Given the description of an element on the screen output the (x, y) to click on. 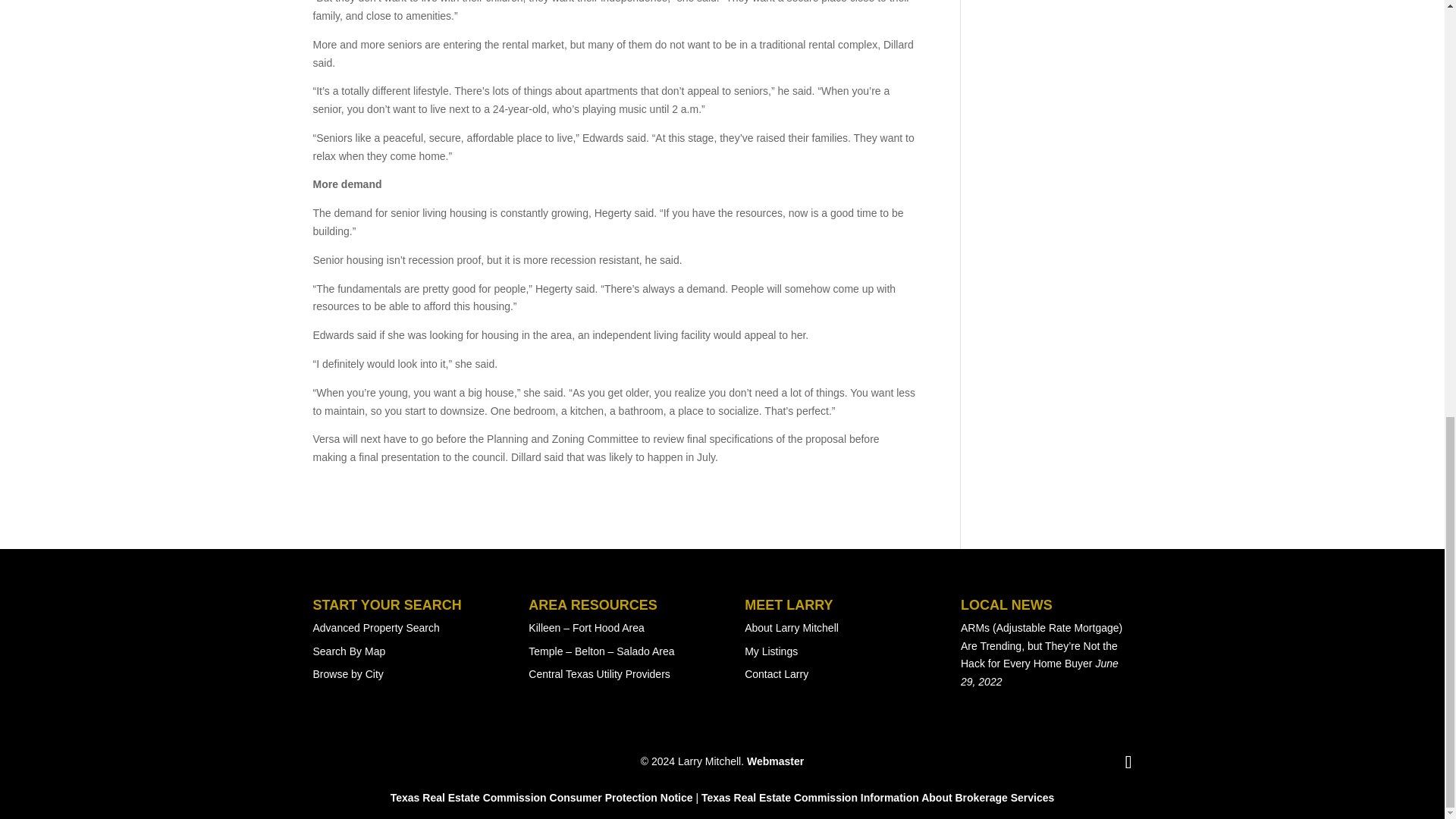
Texas Real Estate Commission Consumer Protection Notice (541, 797)
Webmaster (774, 761)
Central Texas Utility Providers (598, 674)
About Larry Mitchell (791, 627)
Search By Map (349, 651)
Browse by City (347, 674)
Contact Larry (776, 674)
My Listings (770, 651)
Advanced Property Search (376, 627)
